Given the description of an element on the screen output the (x, y) to click on. 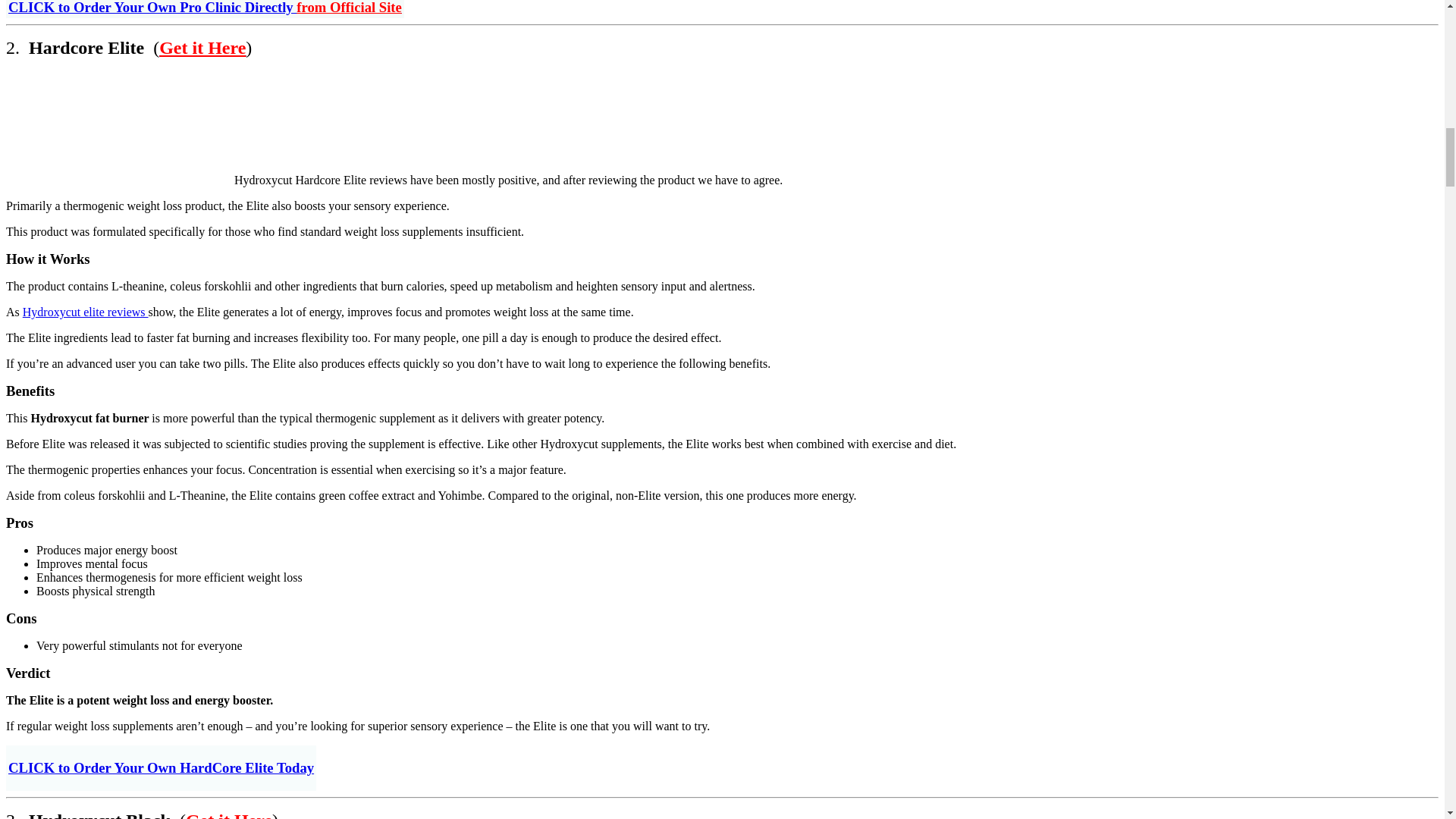
Hydroxycut elite reviews (85, 311)
Get it Here (202, 47)
Get it Here (229, 814)
CLICK to Order Your Own HardCore Elite Today (161, 767)
